Given the description of an element on the screen output the (x, y) to click on. 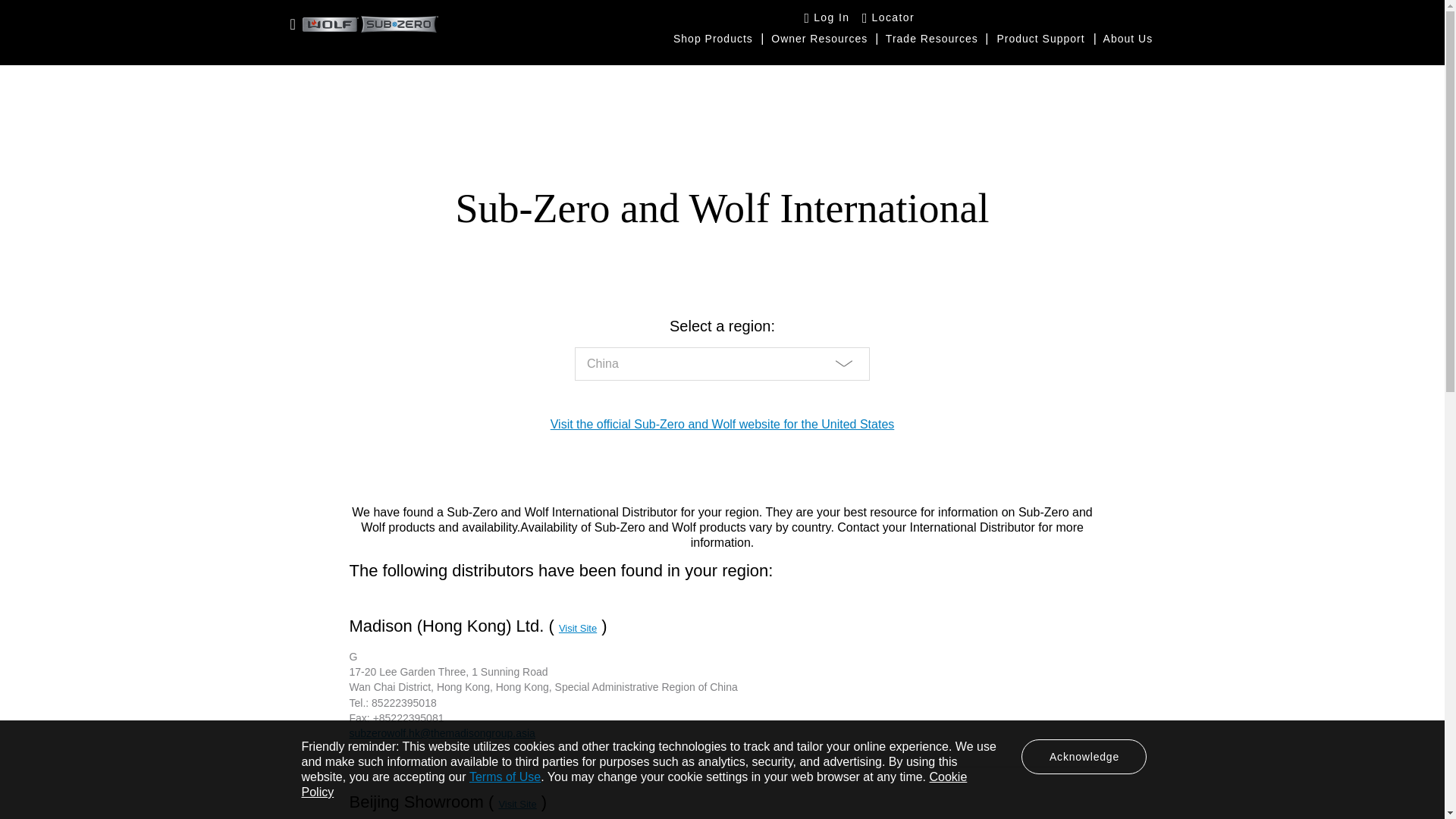
Terms of Use (504, 776)
Acknowledge (1084, 756)
Cookie Policy (634, 784)
Locator (887, 17)
Shop Products (712, 38)
Log In (827, 17)
